Given the description of an element on the screen output the (x, y) to click on. 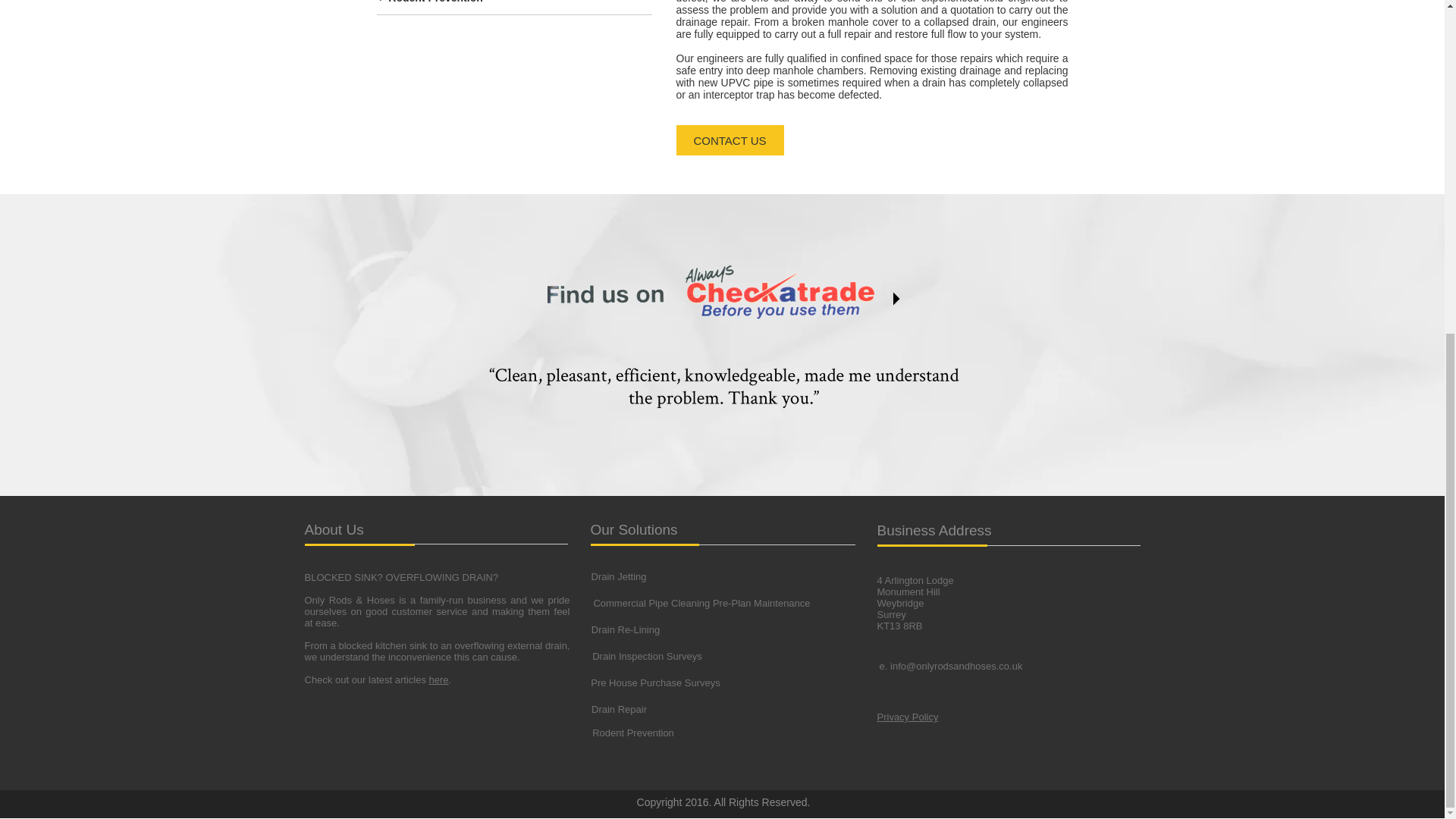
Commercial Pipe Cleaning Pre-Plan Maintenance (700, 603)
Drain Inspection Surveys (646, 656)
Rodent Prevention (632, 733)
Privacy Policy (906, 716)
here (438, 679)
CONTACT US (730, 140)
Drain Re-Lining (625, 630)
Pre House Purchase Surveys (654, 683)
Drain Repair (618, 709)
Drain Jetting (617, 576)
